Given the description of an element on the screen output the (x, y) to click on. 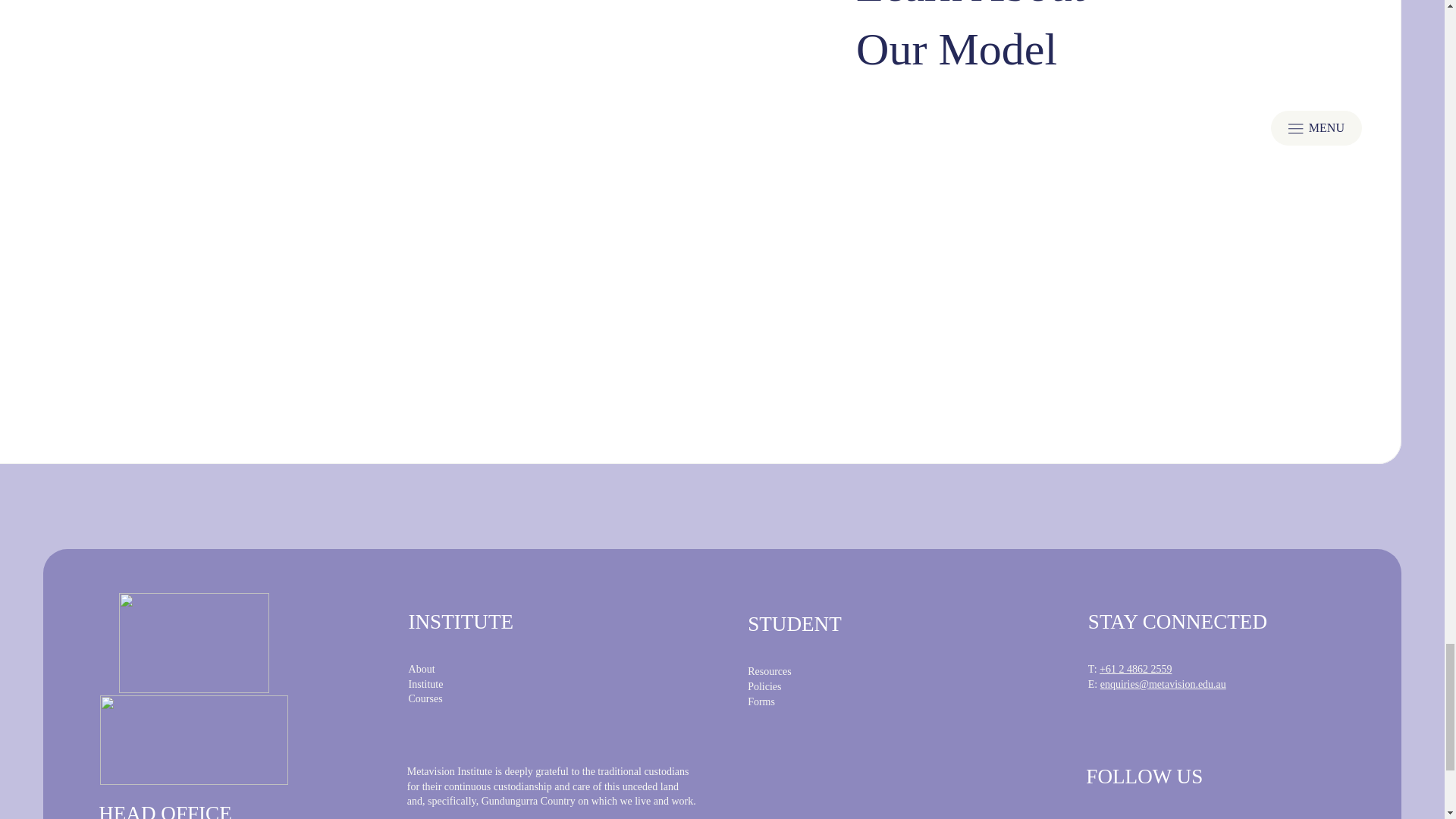
Institute (426, 684)
About (422, 668)
Forms (761, 701)
Resources (770, 671)
Policies (764, 686)
Courses (425, 698)
